Given the description of an element on the screen output the (x, y) to click on. 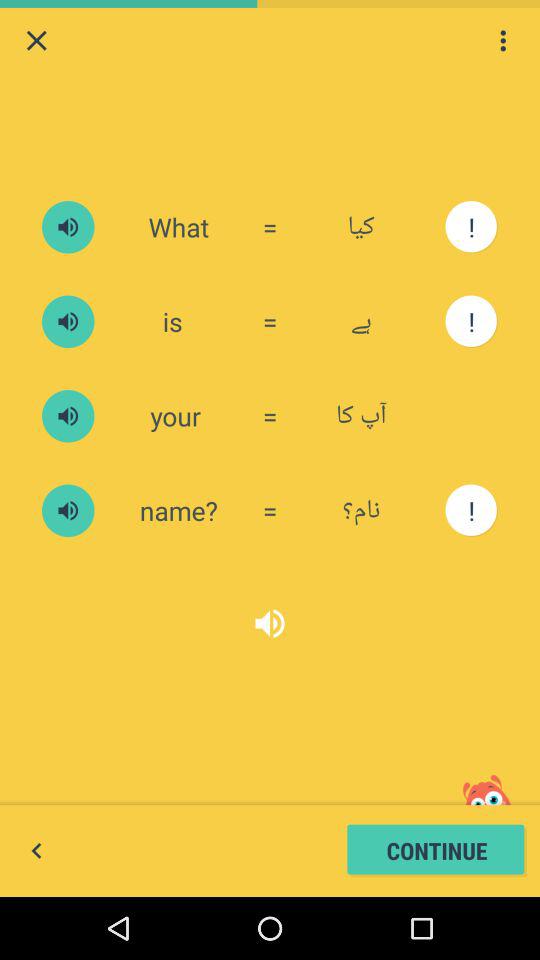
open settings more information (503, 40)
